Given the description of an element on the screen output the (x, y) to click on. 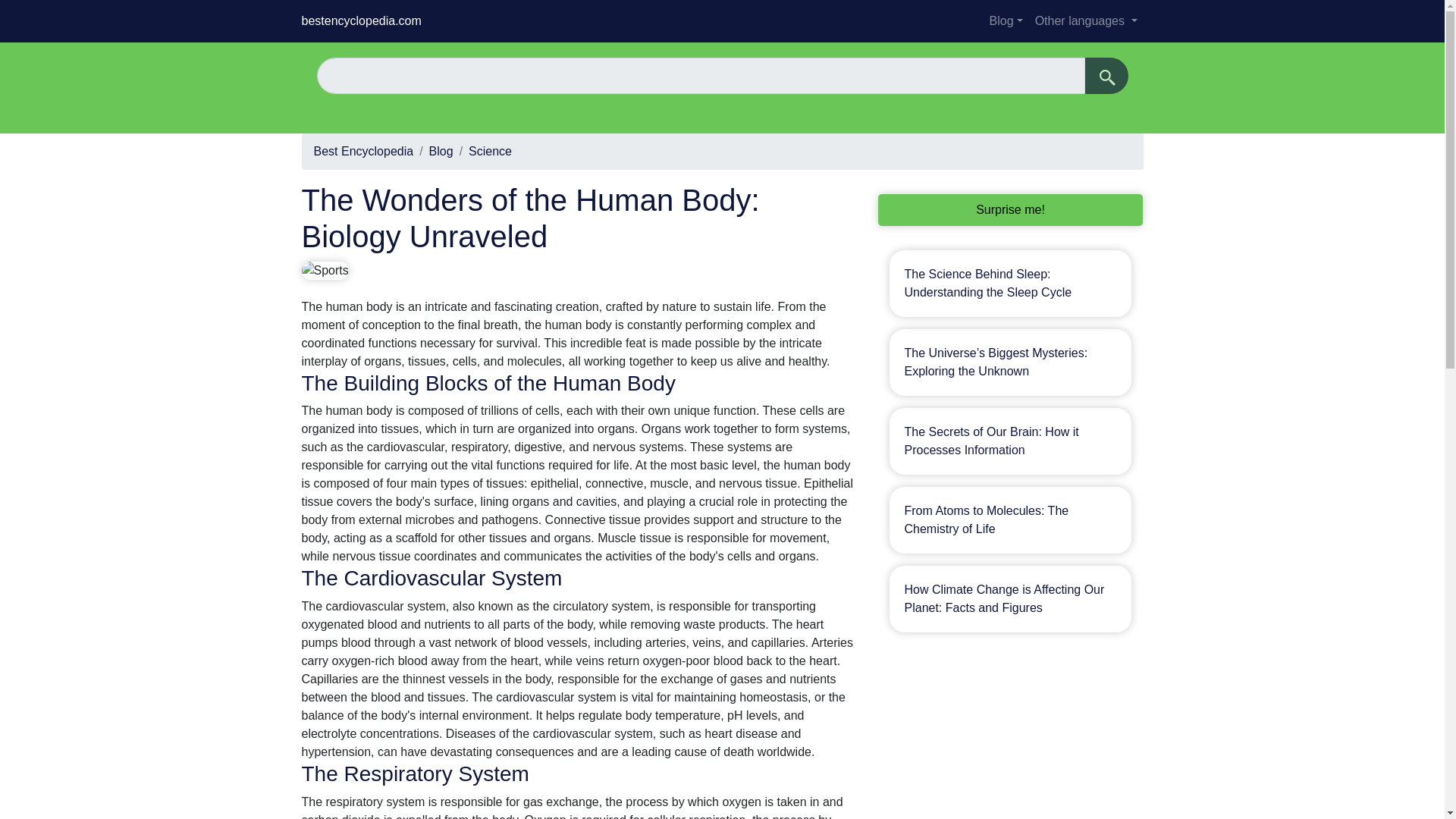
Surprise me! (1009, 210)
Blog (440, 151)
The Science Behind Sleep: Understanding the Sleep Cycle (987, 282)
Blog (1006, 20)
Science (490, 151)
From Atoms to Molecules: The Chemistry of Life (986, 519)
The Secrets of Our Brain: How it Processes Information (991, 440)
Best Encyclopedia (363, 151)
bestencyclopedia.com (361, 21)
Other languages (1085, 20)
